Given the description of an element on the screen output the (x, y) to click on. 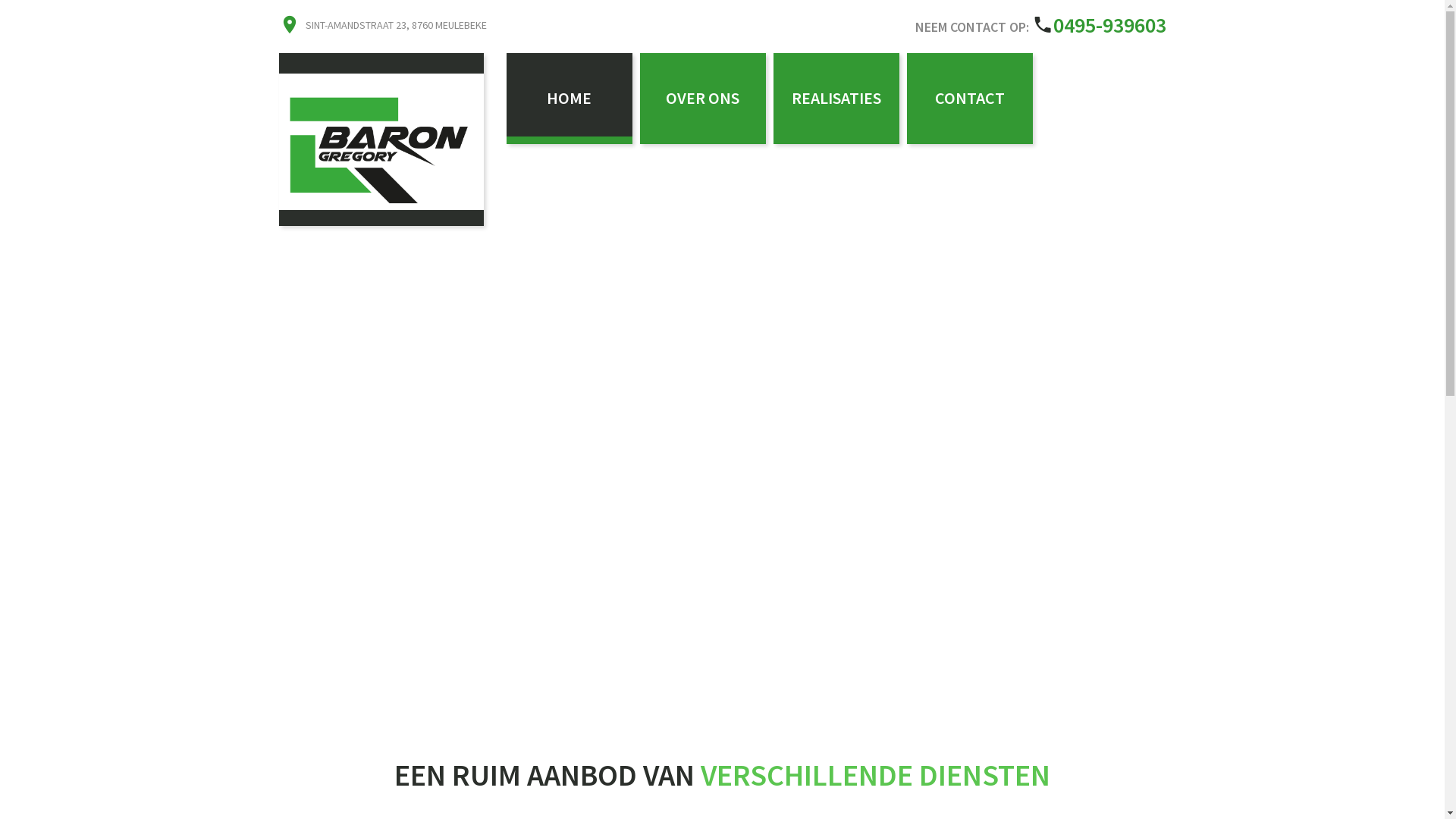
SINT-AMANDSTRAAT 23, 8760 MEULEBEKE Element type: text (395, 24)
REALISATIES Element type: text (836, 98)
CONTACT Element type: text (969, 98)
0495-939603 Element type: text (1108, 24)
HOME Element type: text (569, 98)
OVER ONS Element type: text (702, 98)
